Given the description of an element on the screen output the (x, y) to click on. 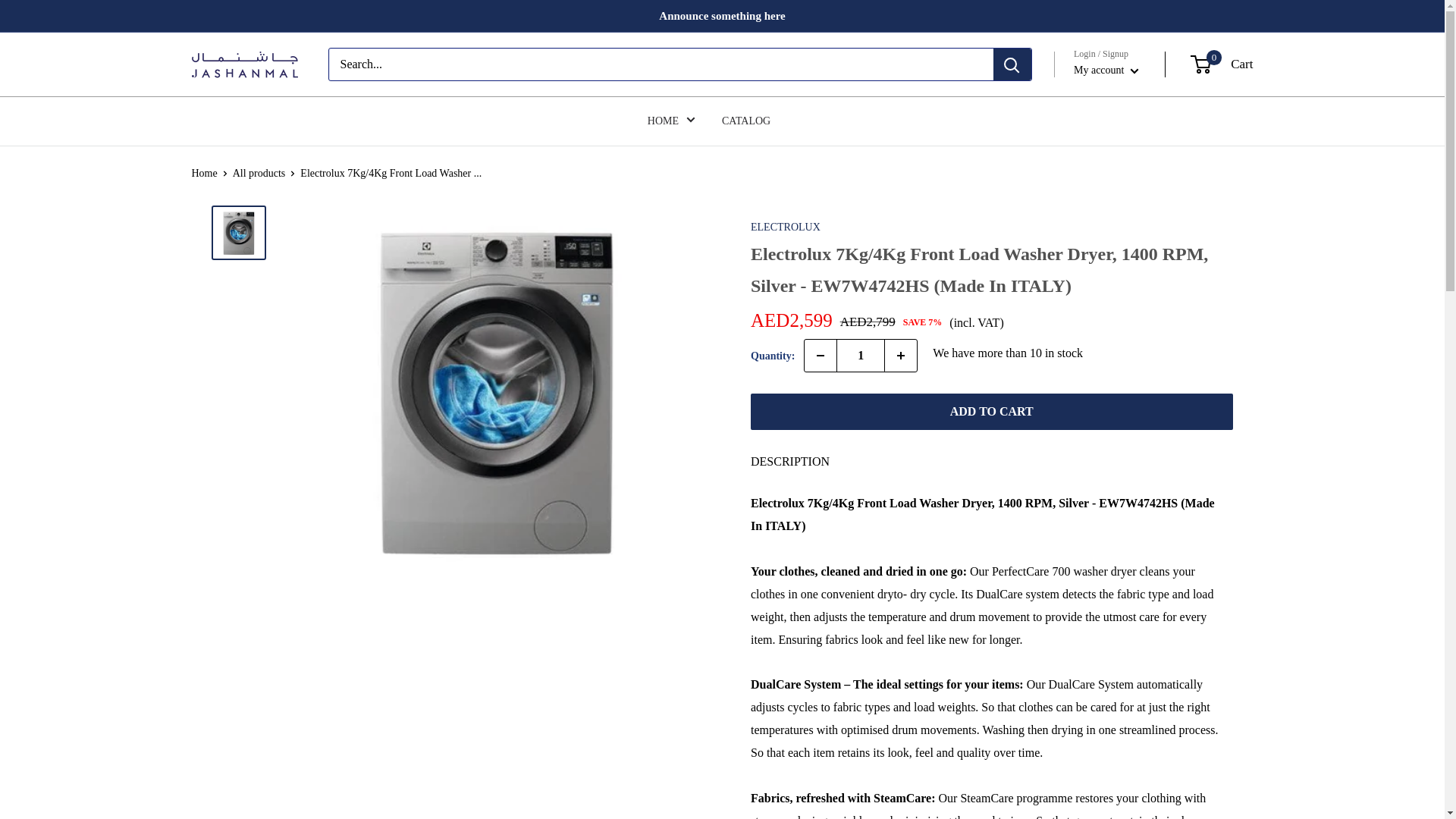
ADD TO CART (992, 411)
1 (860, 355)
Decrease quantity by 1 (820, 355)
My account (1106, 70)
Increase quantity by 1 (901, 355)
JNC Staging Website (243, 64)
Home (203, 173)
CATALOG (746, 121)
HOME (671, 121)
All products (258, 173)
ELECTROLUX (1222, 64)
